Given the description of an element on the screen output the (x, y) to click on. 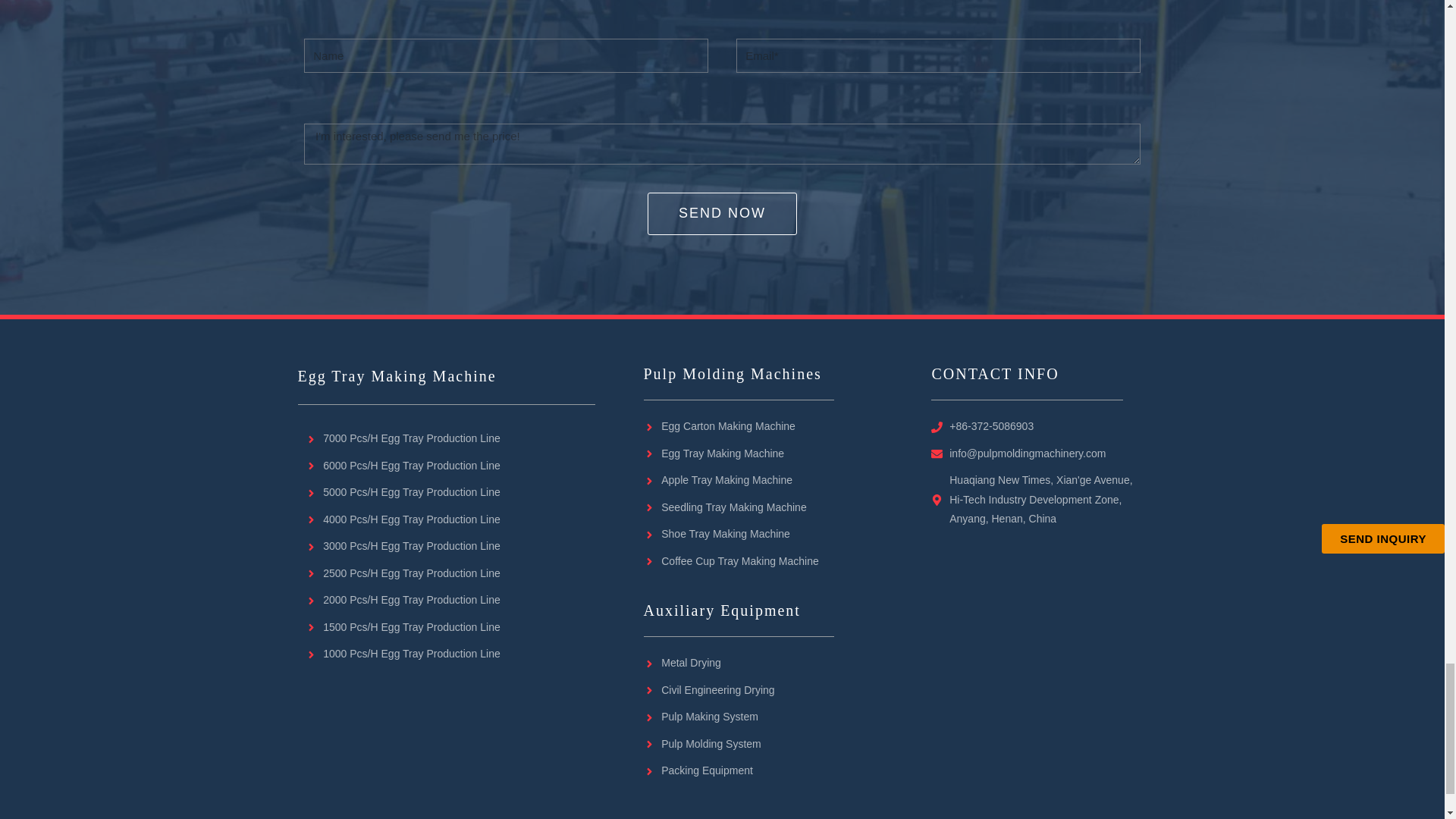
Send Now (721, 213)
